Given the description of an element on the screen output the (x, y) to click on. 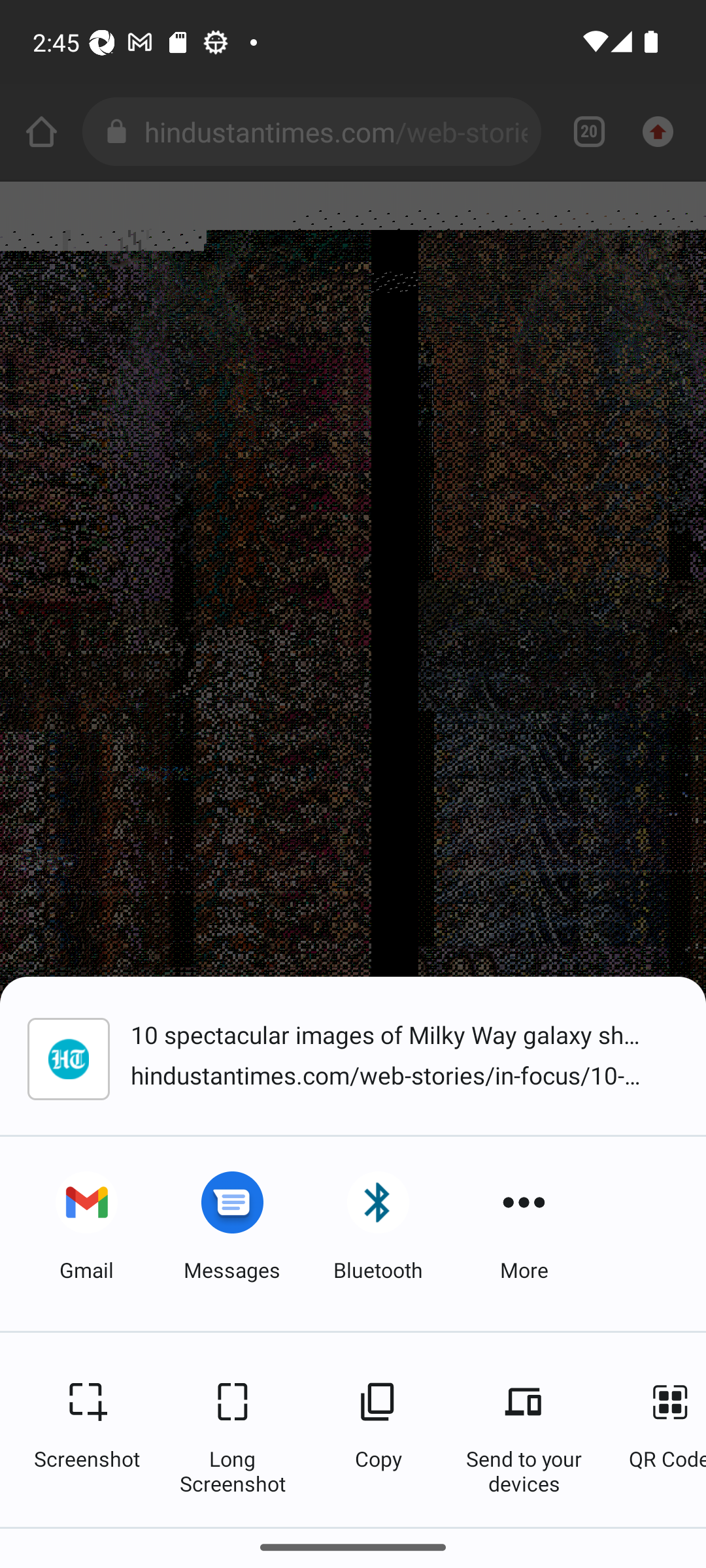
Gmail (86, 1233)
Messages (231, 1233)
Bluetooth (378, 1233)
More (523, 1233)
Screenshot (86, 1429)
Long Screenshot (231, 1429)
Copy (378, 1429)
Send to your devices (523, 1429)
QR Code (658, 1429)
